Given the description of an element on the screen output the (x, y) to click on. 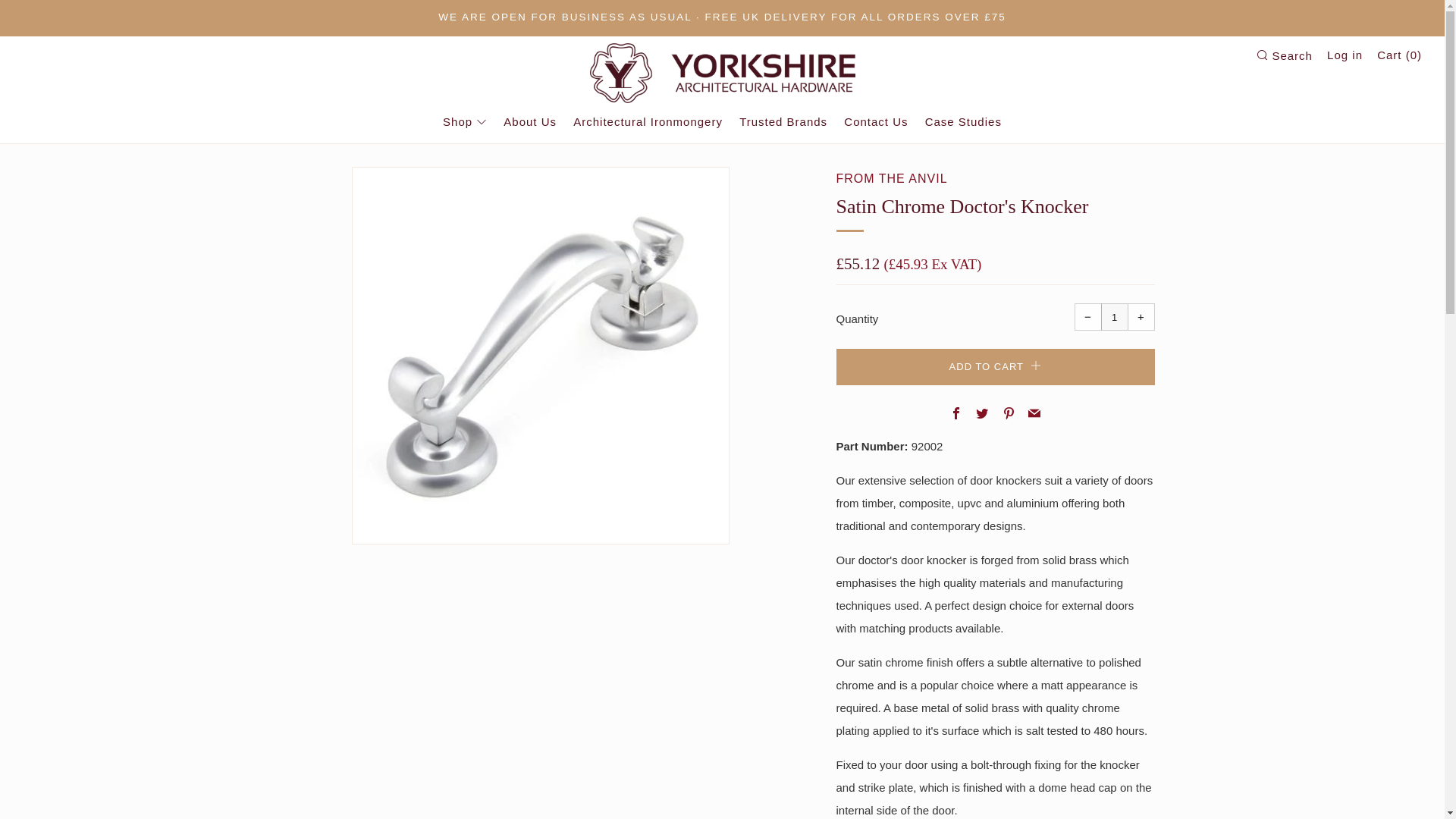
1 (1114, 316)
From The Anvil (891, 178)
